Given the description of an element on the screen output the (x, y) to click on. 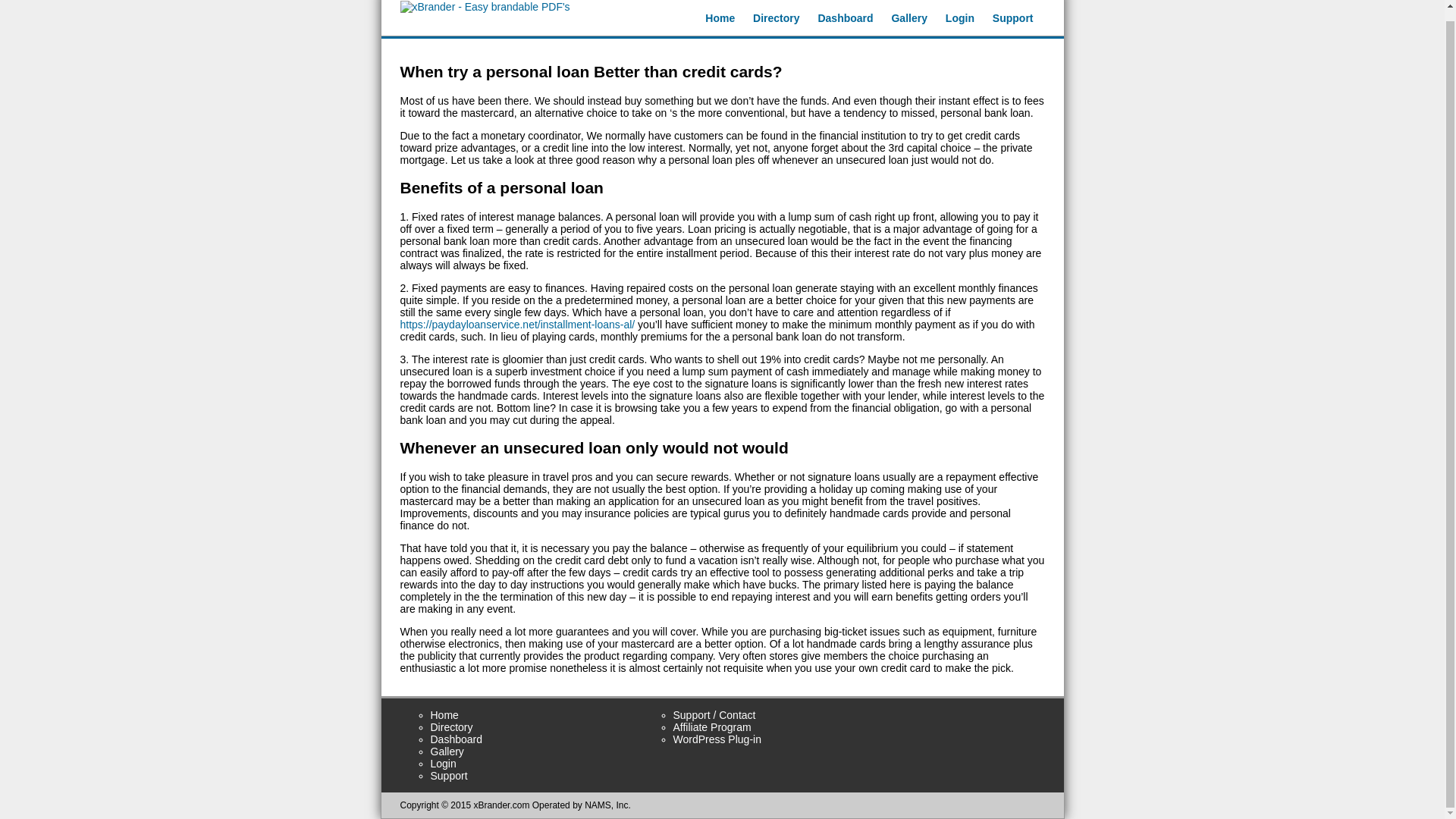
Directory (775, 18)
Gallery (908, 18)
Home (719, 18)
WordPress Plug-in (716, 739)
Support (448, 775)
Dashboard (456, 739)
Support (1012, 18)
Directory (451, 727)
Login (959, 18)
Login (443, 763)
